Given the description of an element on the screen output the (x, y) to click on. 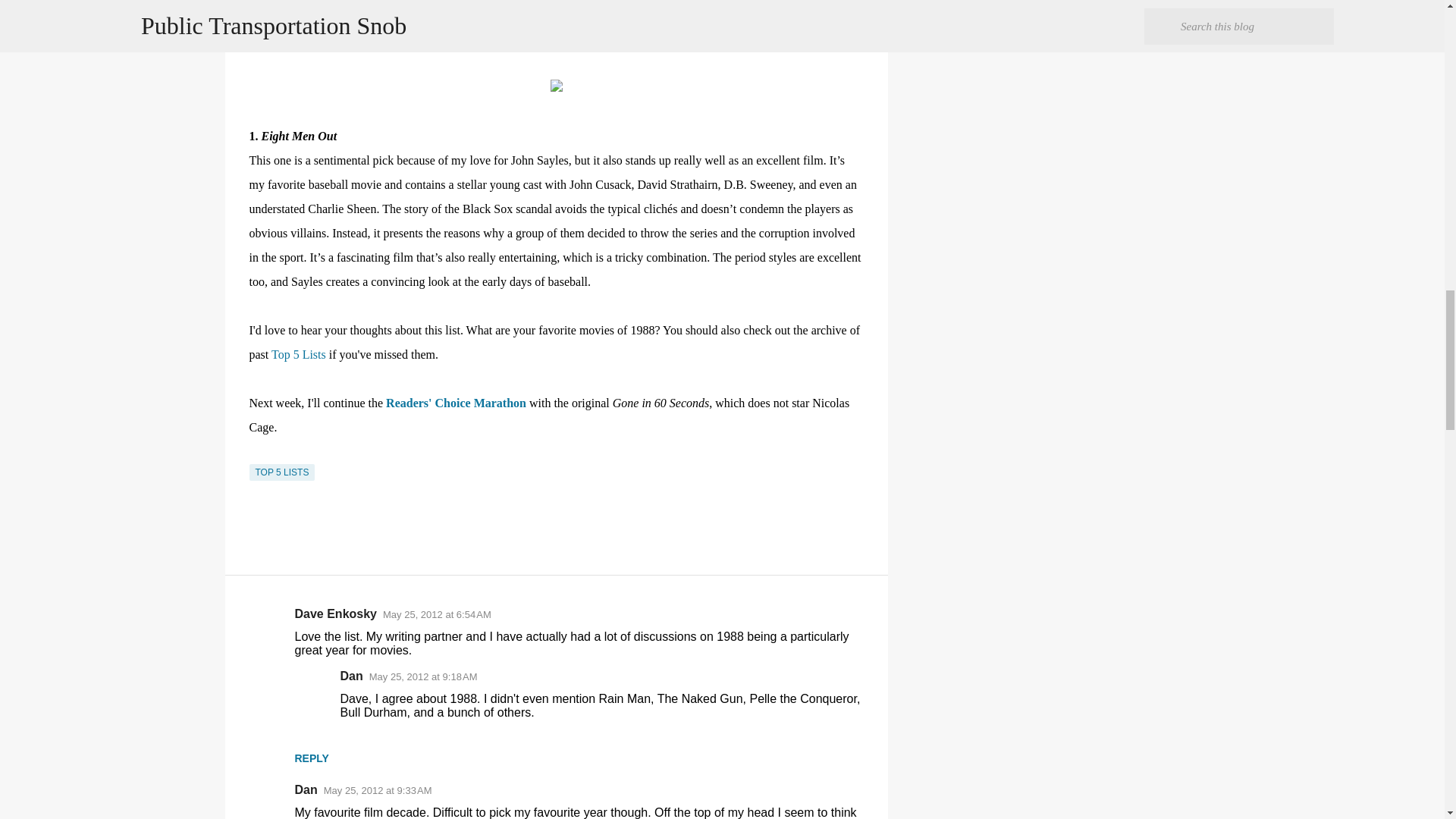
Dave Enkosky (335, 613)
Dan (350, 675)
REPLY (311, 758)
Top 5 Lists (298, 354)
Dan (305, 789)
Email Post (257, 454)
Readers' Choice Marathon (455, 402)
TOP 5 LISTS (281, 472)
